Given the description of an element on the screen output the (x, y) to click on. 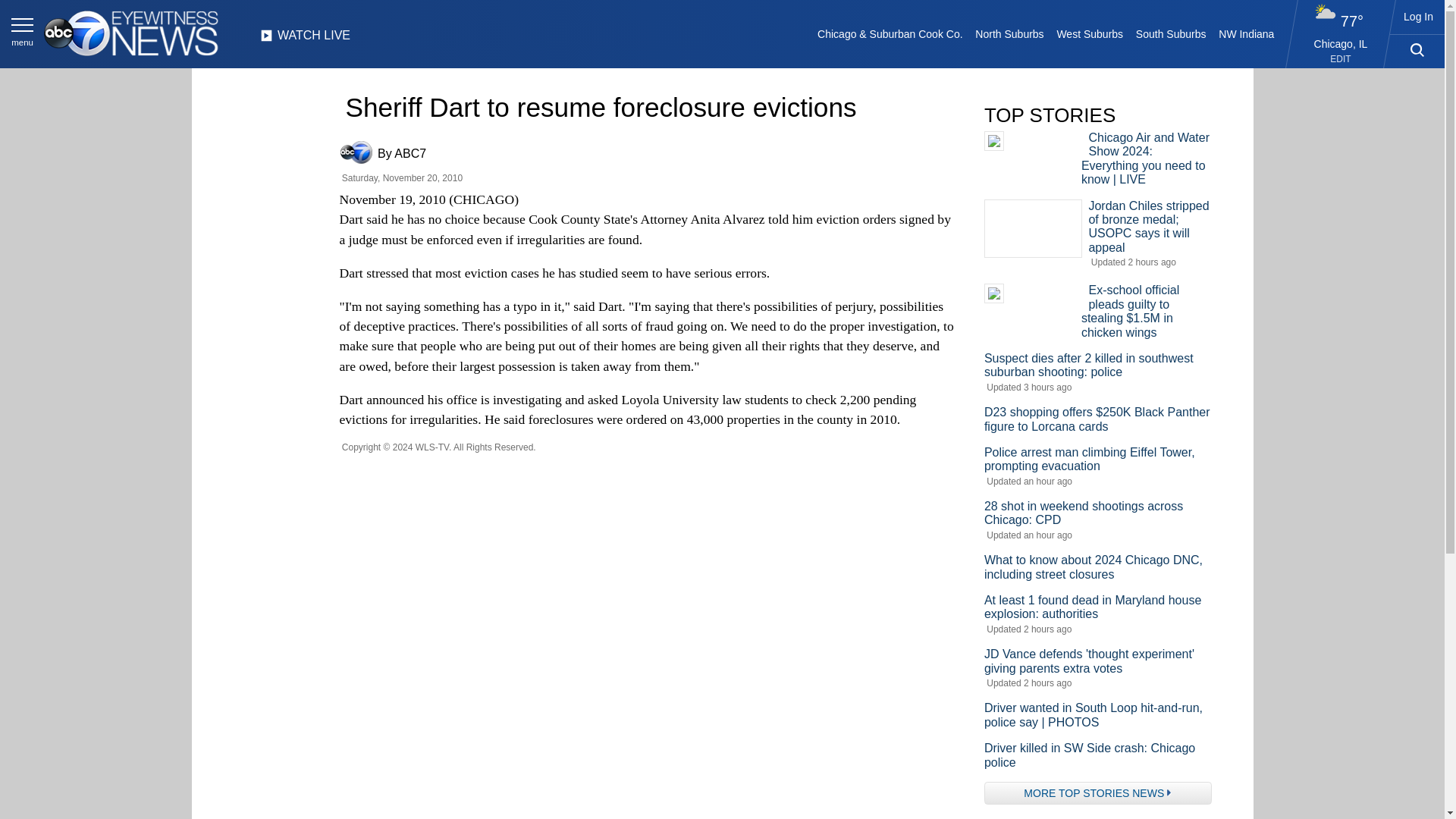
West Suburbs (1089, 33)
WATCH LIVE (305, 39)
NW Indiana (1246, 33)
North Suburbs (1009, 33)
EDIT (1340, 59)
Chicago, IL (1340, 43)
South Suburbs (1170, 33)
